Given the description of an element on the screen output the (x, y) to click on. 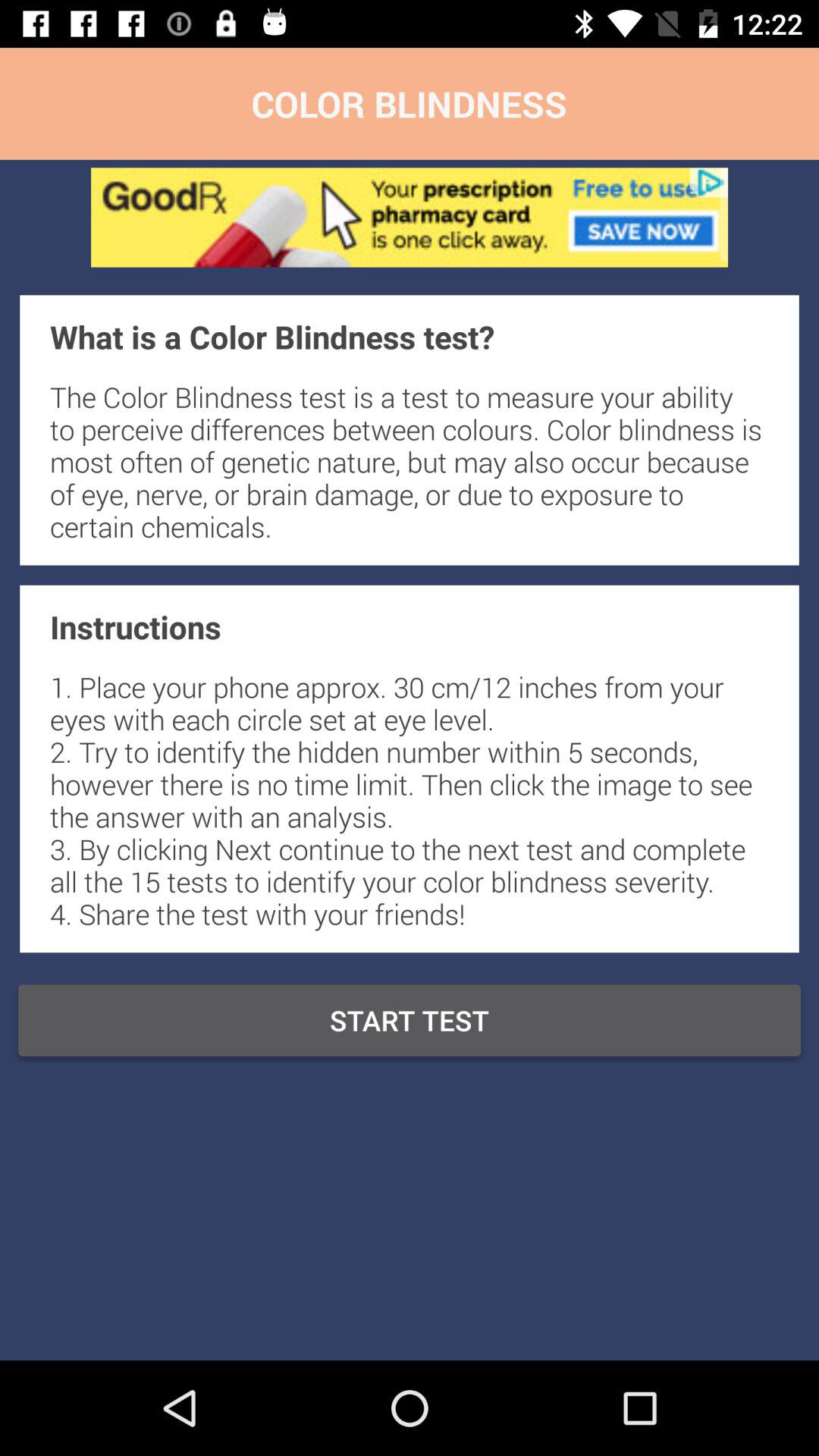
advertisement (409, 217)
